Given the description of an element on the screen output the (x, y) to click on. 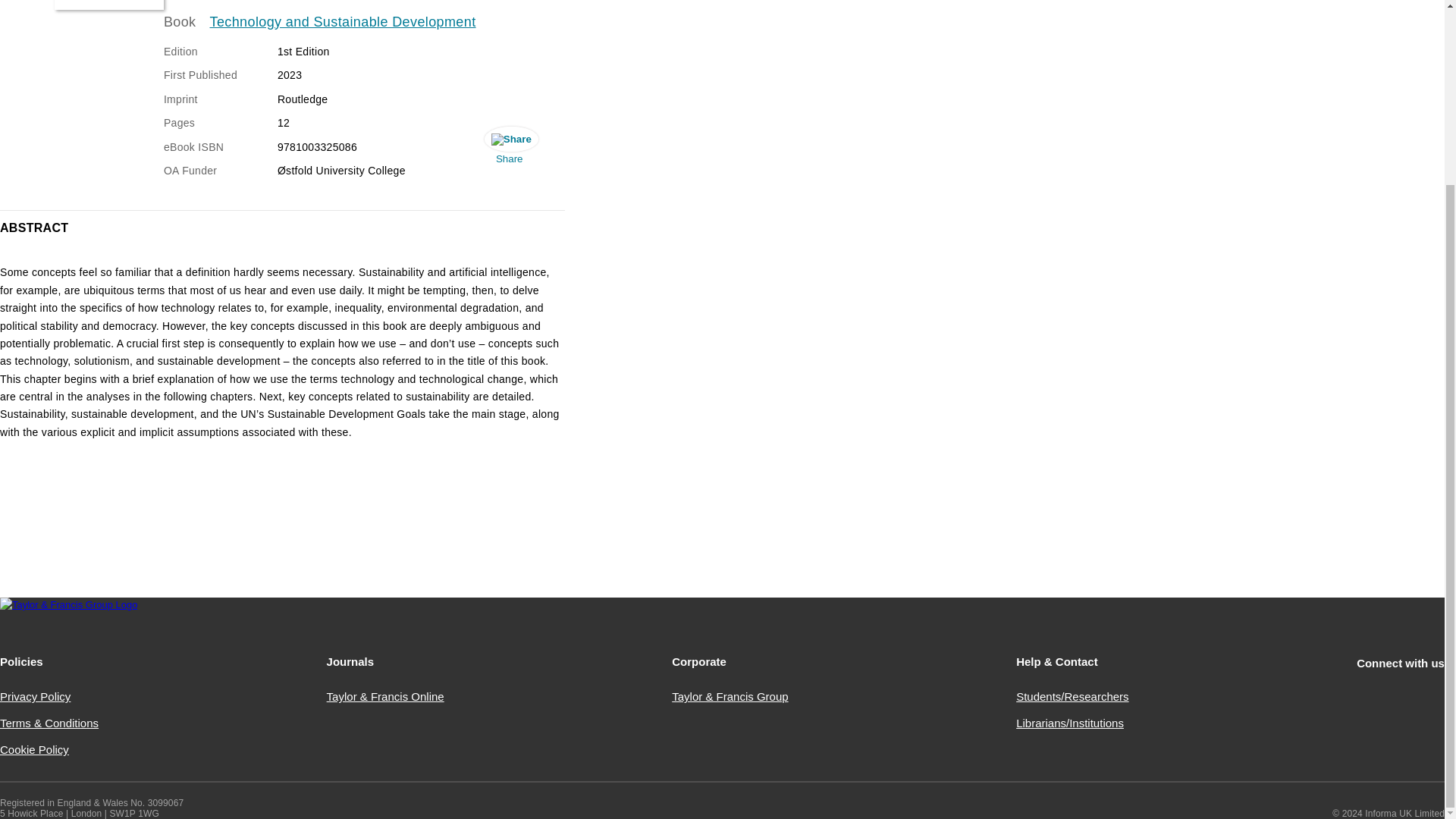
Cookie Policy (34, 749)
Key Concepts (109, 4)
Share (509, 148)
Privacy Policy (34, 696)
Technology and Sustainable Development (342, 22)
